Given the description of an element on the screen output the (x, y) to click on. 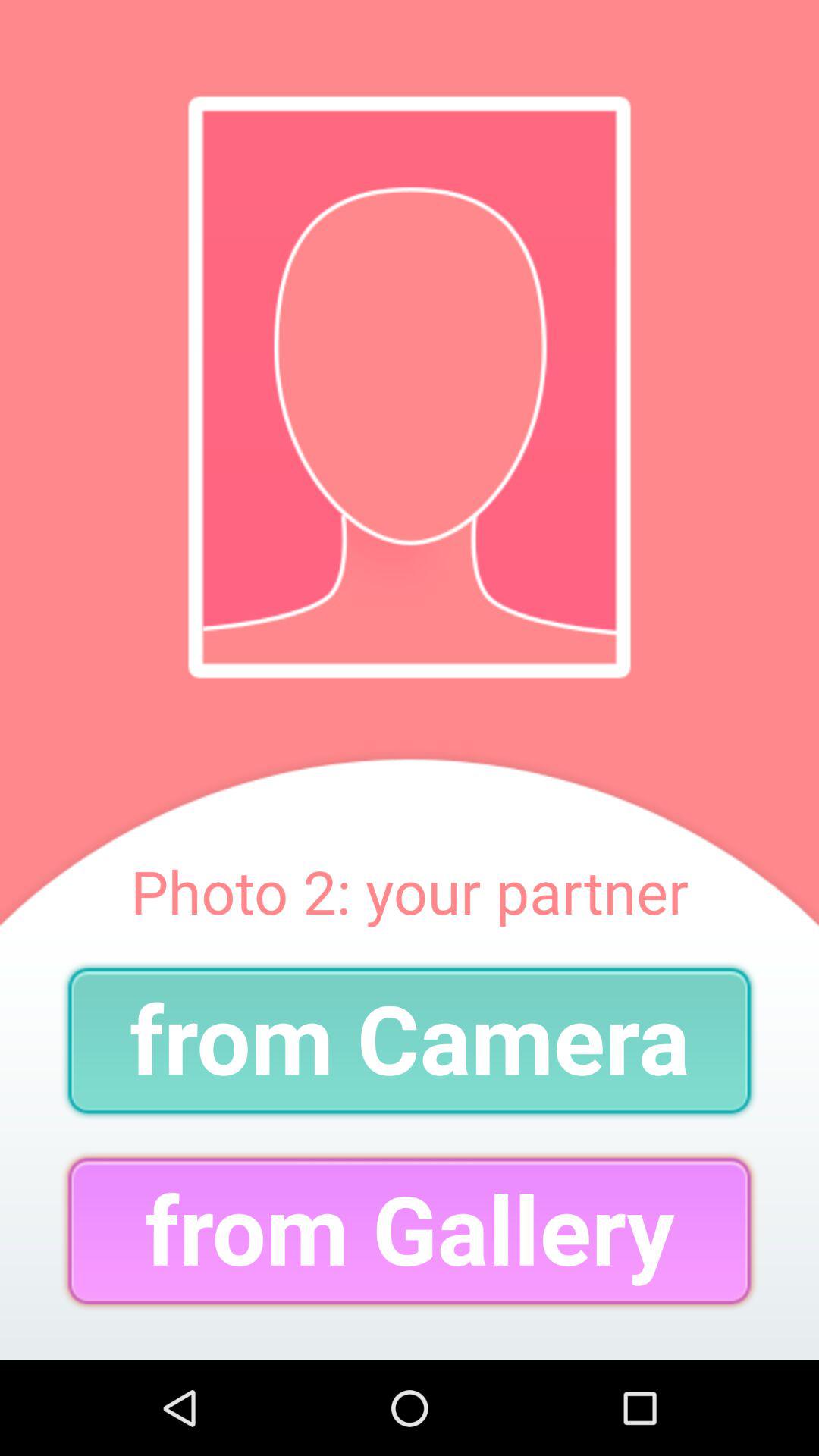
press item above from gallery icon (409, 1040)
